Given the description of an element on the screen output the (x, y) to click on. 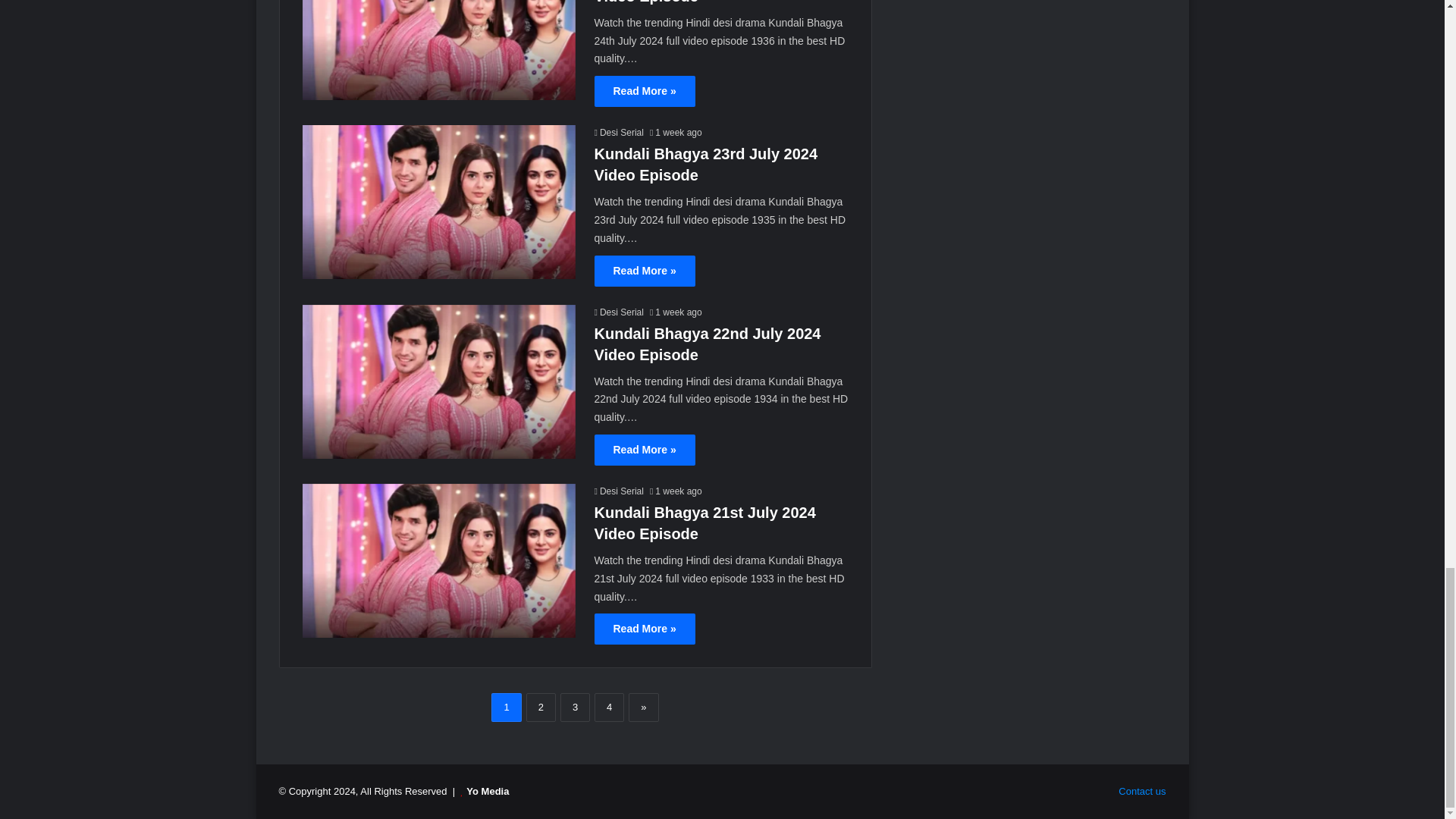
3 (574, 706)
Desi Serial (618, 132)
4 (609, 706)
Desi Serial (618, 491)
2 (540, 706)
Desi Serial (618, 312)
